Given the description of an element on the screen output the (x, y) to click on. 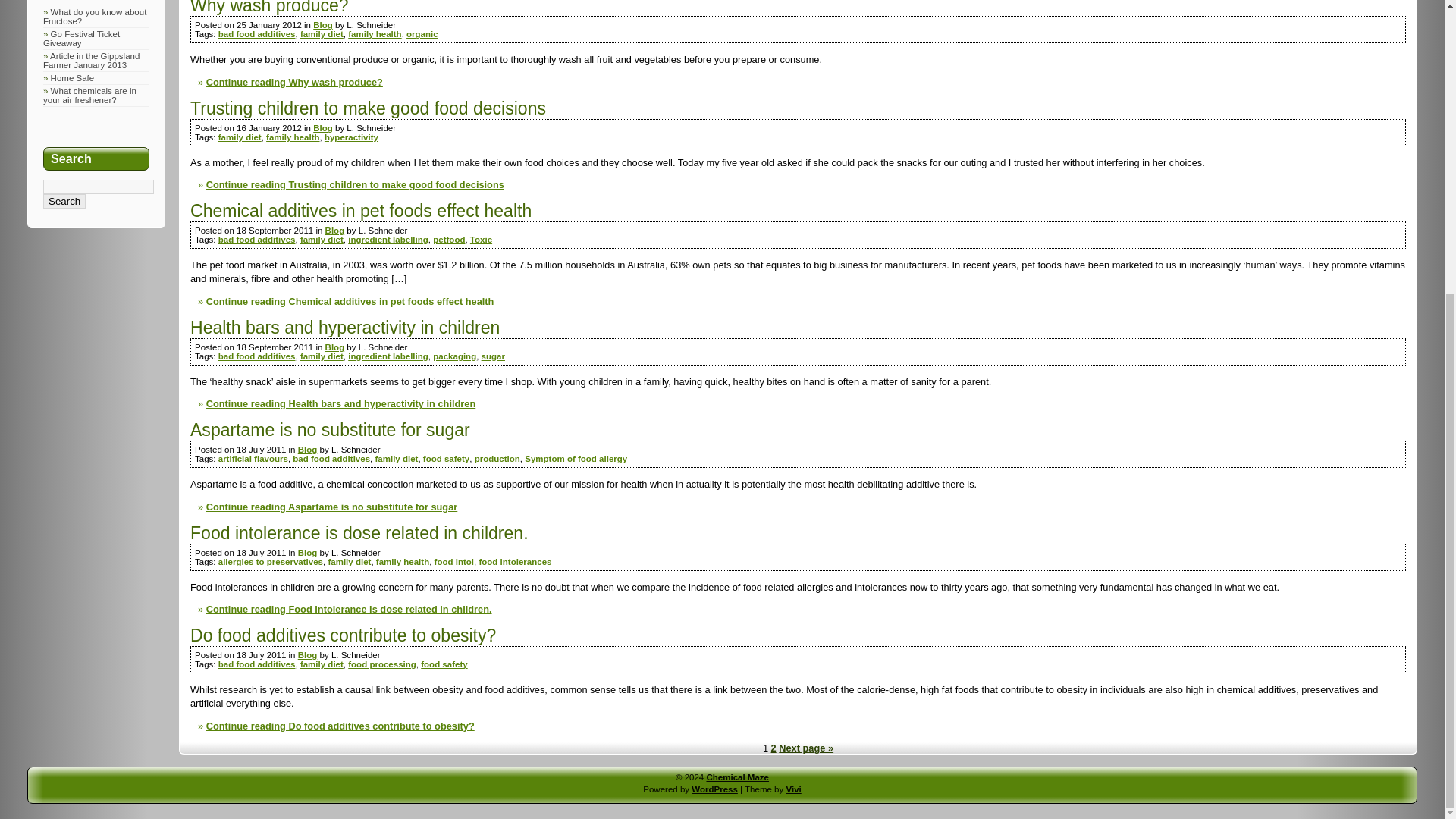
What do you know about Fructose? (95, 16)
Search (64, 201)
Search (64, 201)
Article in the Gippsland Farmer January 2013 (91, 60)
Home Safe (72, 77)
What chemicals are in your air freshener? (89, 95)
Go Festival Ticket Giveaway (81, 38)
